Given the description of an element on the screen output the (x, y) to click on. 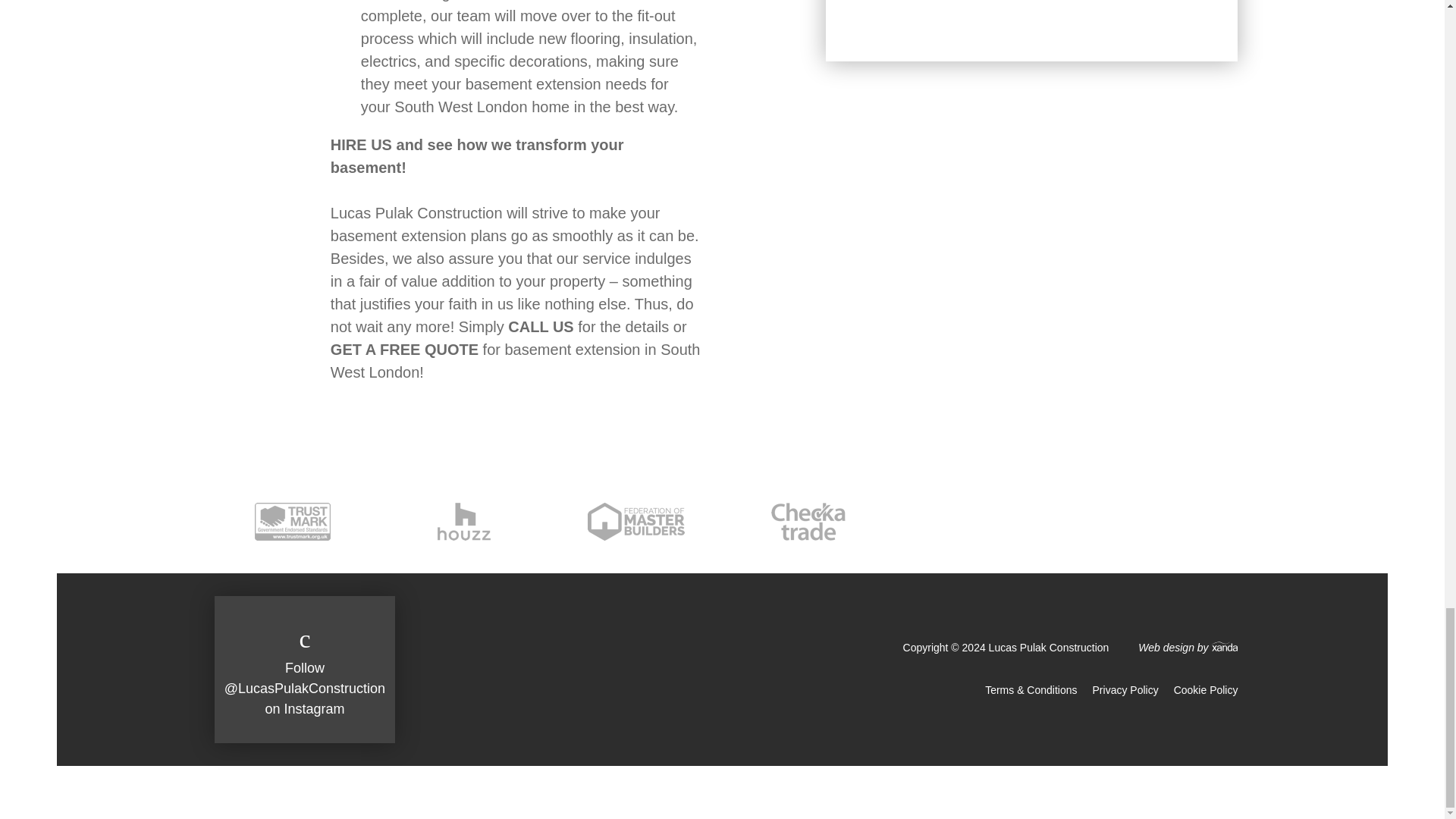
Privacy Policy (1125, 689)
GET A FREE QUOTE (404, 349)
CALL US (540, 326)
Cookie Policy (1206, 689)
Xanda Ltd (1187, 647)
Web design by (1187, 647)
